Given the description of an element on the screen output the (x, y) to click on. 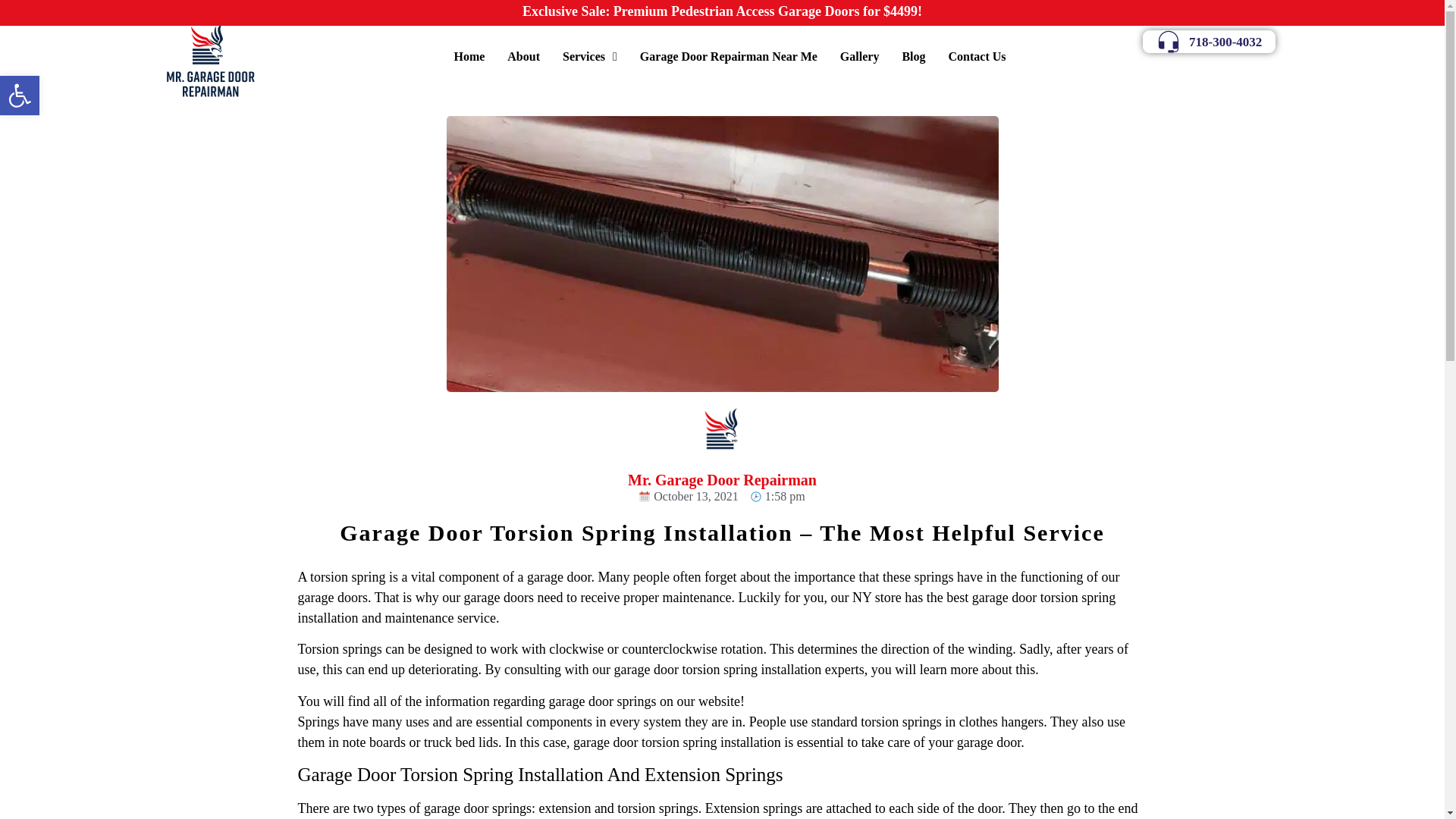
About (523, 56)
Services (589, 56)
718-300-4032 (1208, 41)
Home (469, 56)
Accessibility Tools (19, 95)
Gallery (19, 95)
Contact Us (859, 56)
Garage Door Repairman Near Me (977, 56)
Blog (728, 56)
